Given the description of an element on the screen output the (x, y) to click on. 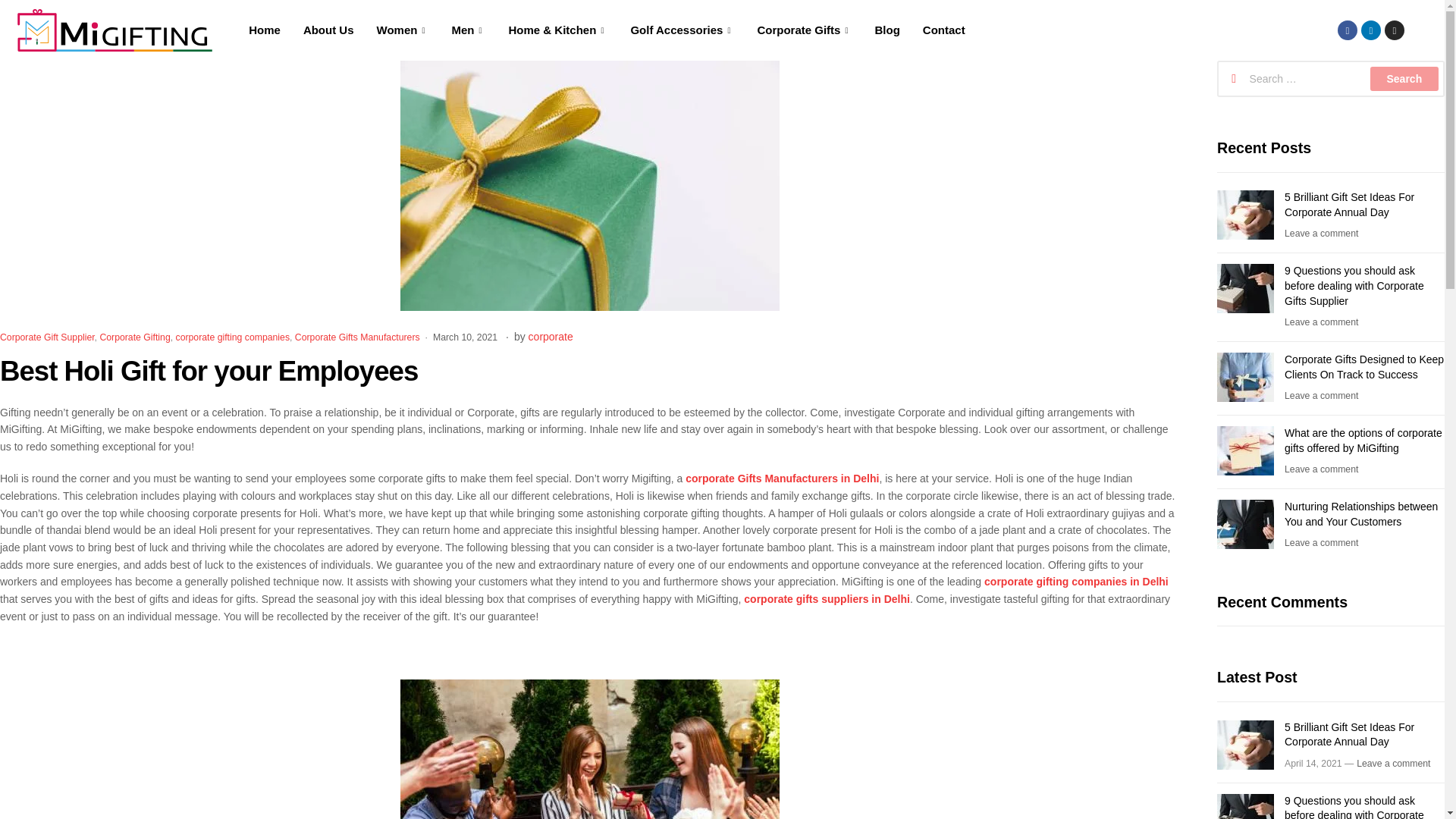
Search (1404, 78)
Women (403, 30)
corporate gifting companies (232, 337)
Home (264, 30)
Men (467, 30)
corporate (550, 336)
Corporate Gifts (804, 30)
About Us (328, 30)
Corporate Gift Supplier (47, 337)
corporate Gifts Manufacturers in Delhi (782, 478)
